Given the description of an element on the screen output the (x, y) to click on. 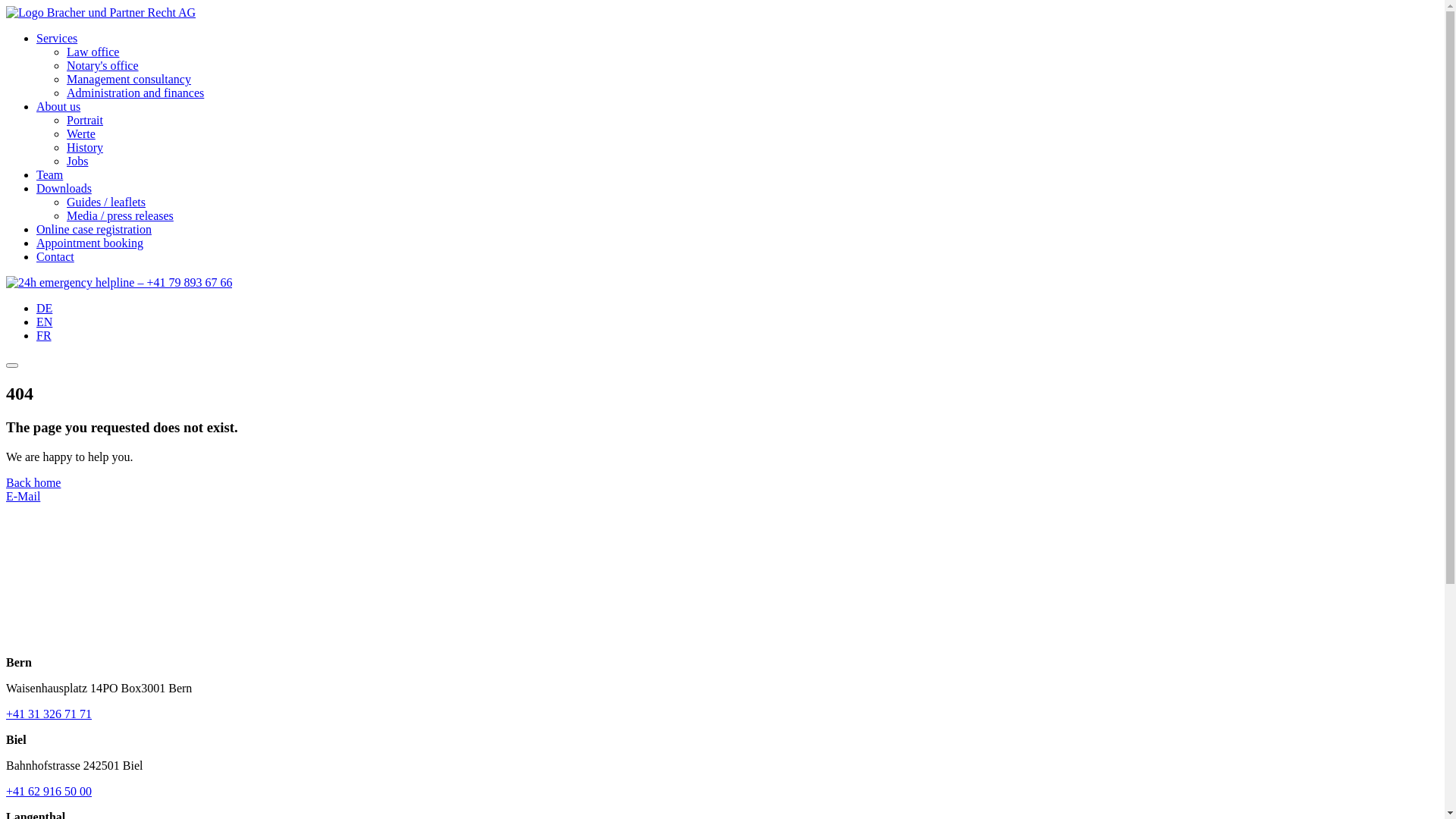
Appointment booking Element type: text (89, 242)
Team Element type: text (49, 174)
Administration and finances Element type: text (134, 92)
Menu Element type: hover (12, 365)
Downloads Element type: text (63, 188)
Services Element type: text (56, 37)
History Element type: text (84, 147)
Notary's office Element type: text (102, 65)
Jobs Element type: text (76, 160)
FR Element type: text (43, 335)
E-Mail Element type: text (23, 495)
EN Element type: text (44, 321)
About us Element type: text (58, 106)
DE Element type: text (44, 307)
Werte Element type: text (80, 133)
Management consultancy Element type: text (128, 78)
Media / press releases Element type: text (119, 215)
Online case registration Element type: text (93, 228)
+41 31 326 71 71 Element type: text (48, 713)
Contact Element type: text (55, 256)
Back home Element type: text (33, 482)
+41 62 916 50 00 Element type: text (48, 790)
Law office Element type: text (92, 51)
Portrait Element type: text (84, 119)
Guides / leaflets Element type: text (105, 201)
